Given the description of an element on the screen output the (x, y) to click on. 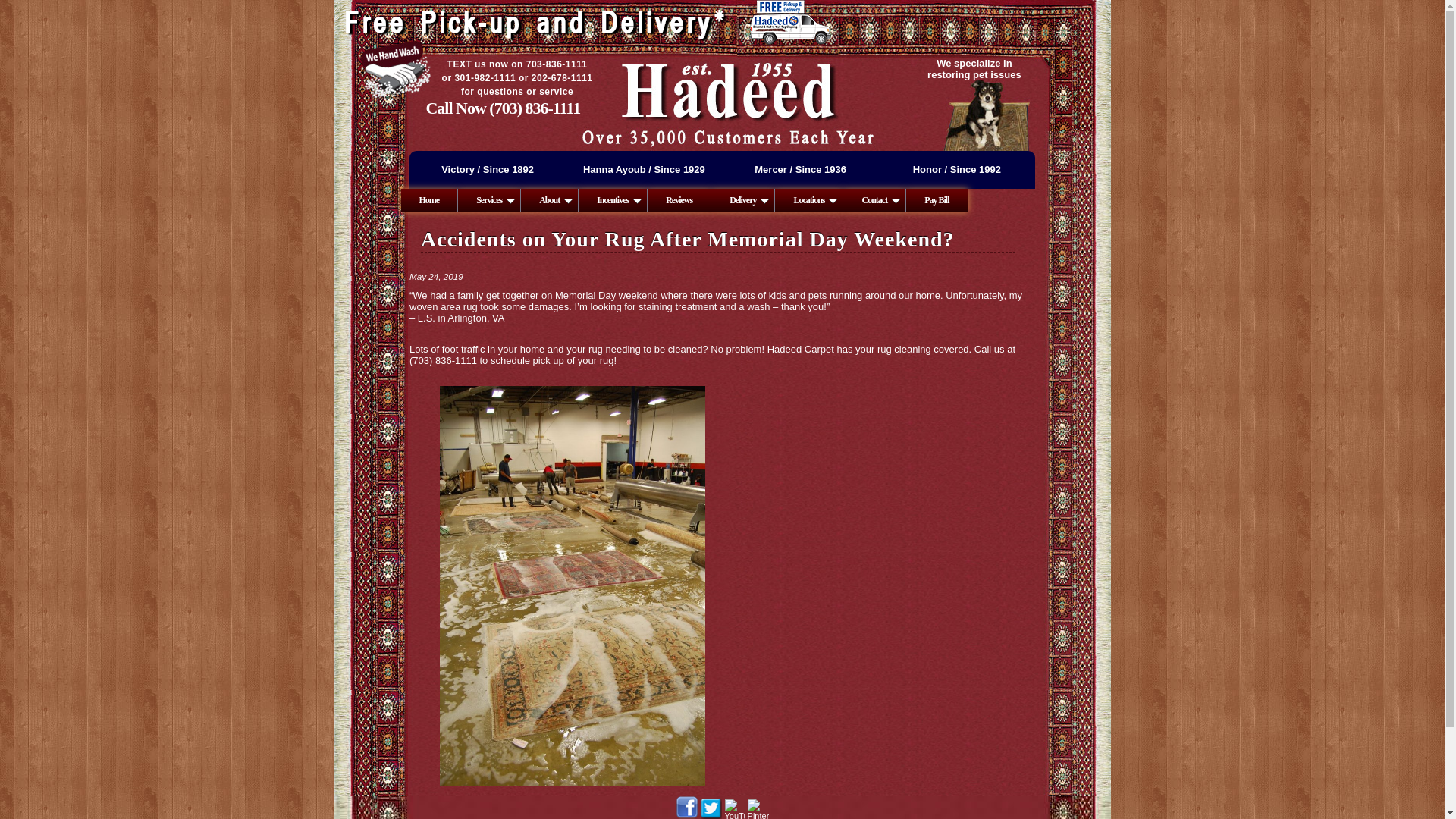
Text Us (556, 63)
About (549, 200)
Services (489, 200)
Call Now (534, 107)
301-982-1111 (484, 77)
Text Us (561, 77)
Home (429, 200)
Incentives (612, 200)
Text Us (484, 77)
Home (429, 200)
